Given the description of an element on the screen output the (x, y) to click on. 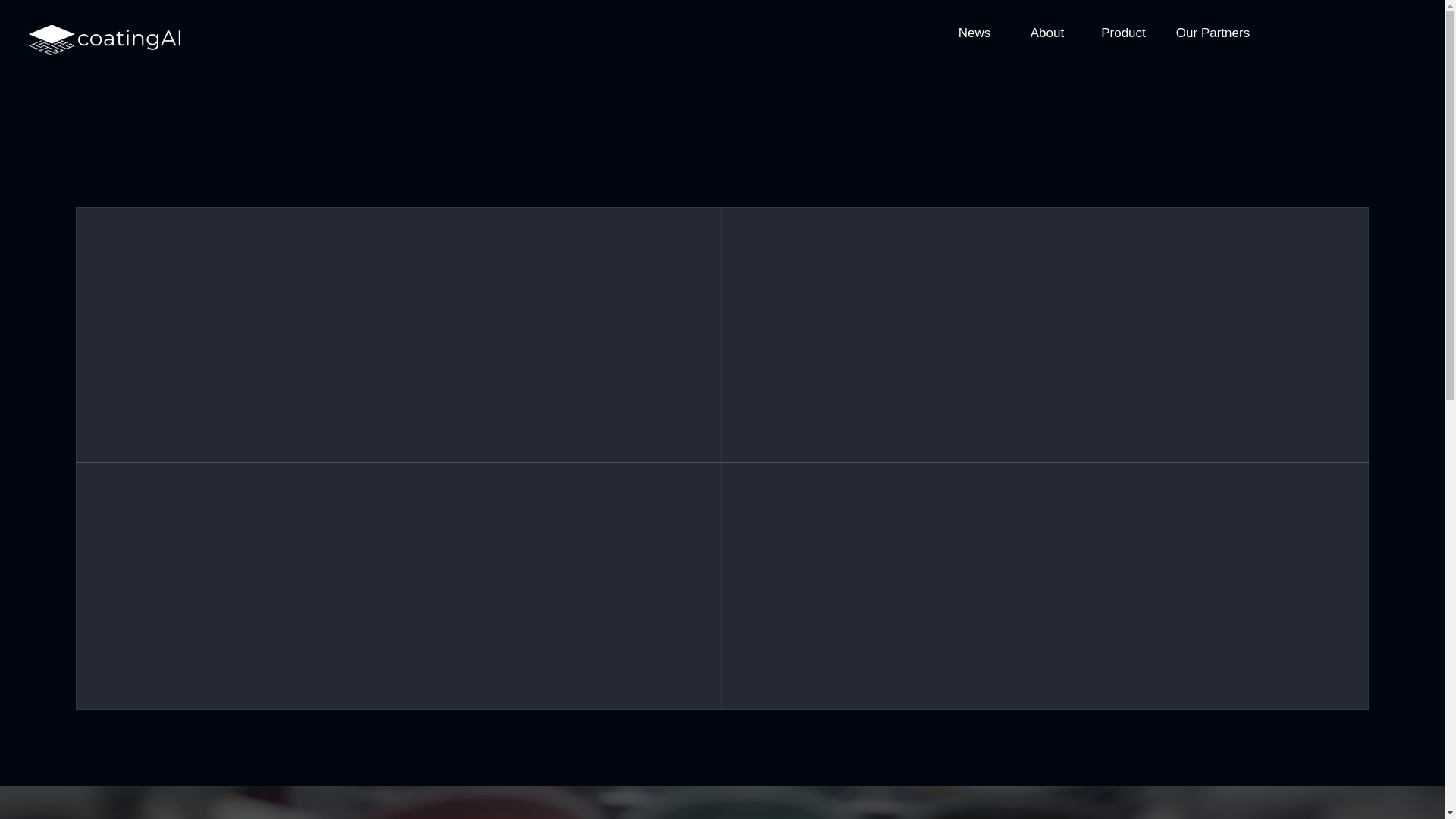
Product (1123, 33)
About (1046, 33)
Our Partners (1212, 33)
News (973, 33)
